Given the description of an element on the screen output the (x, y) to click on. 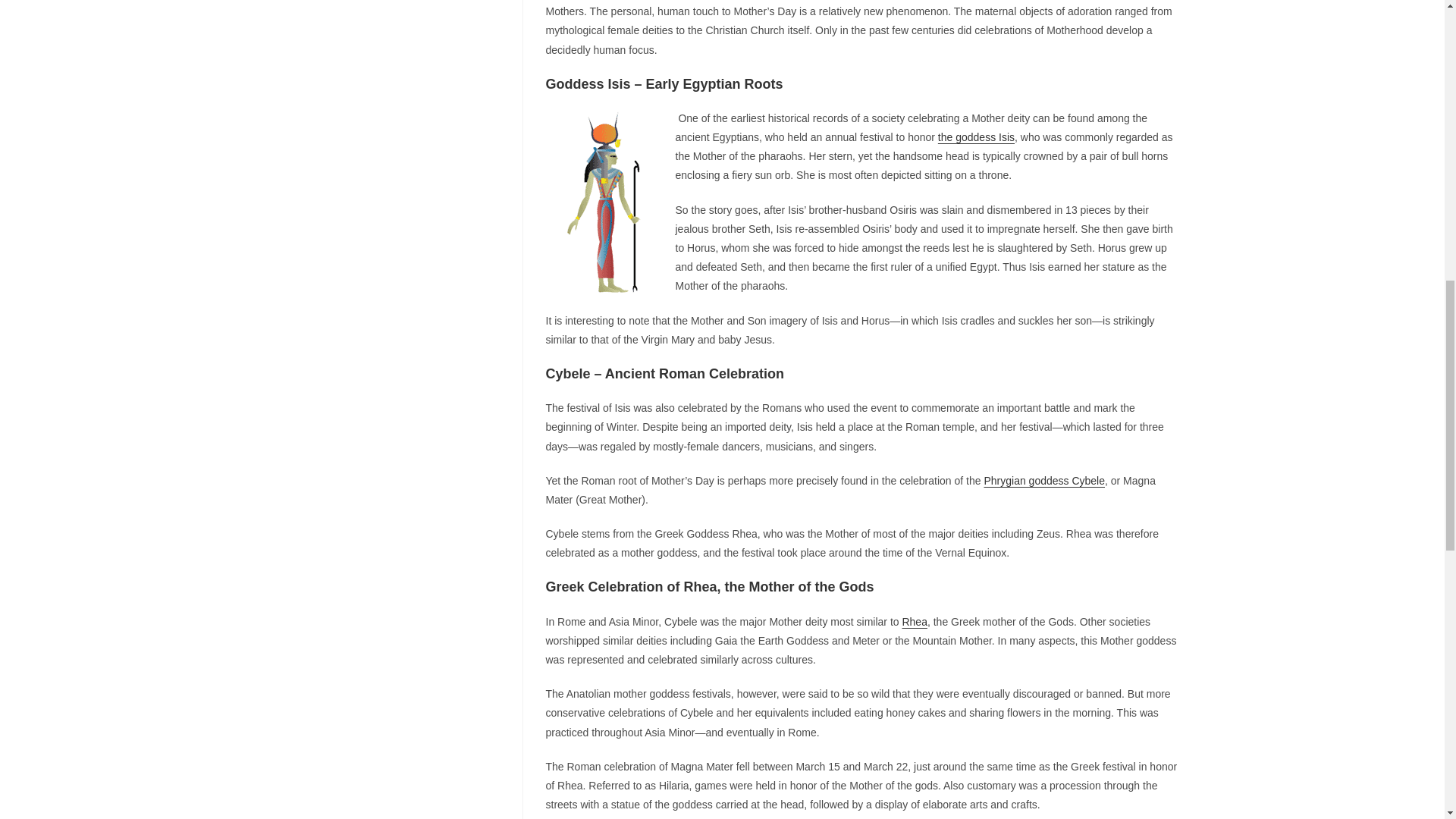
Rhea (913, 621)
click here (975, 137)
click here (1044, 480)
Phrygian goddess Cybele (1044, 480)
click here (913, 621)
the goddess Isis (975, 137)
